Given the description of an element on the screen output the (x, y) to click on. 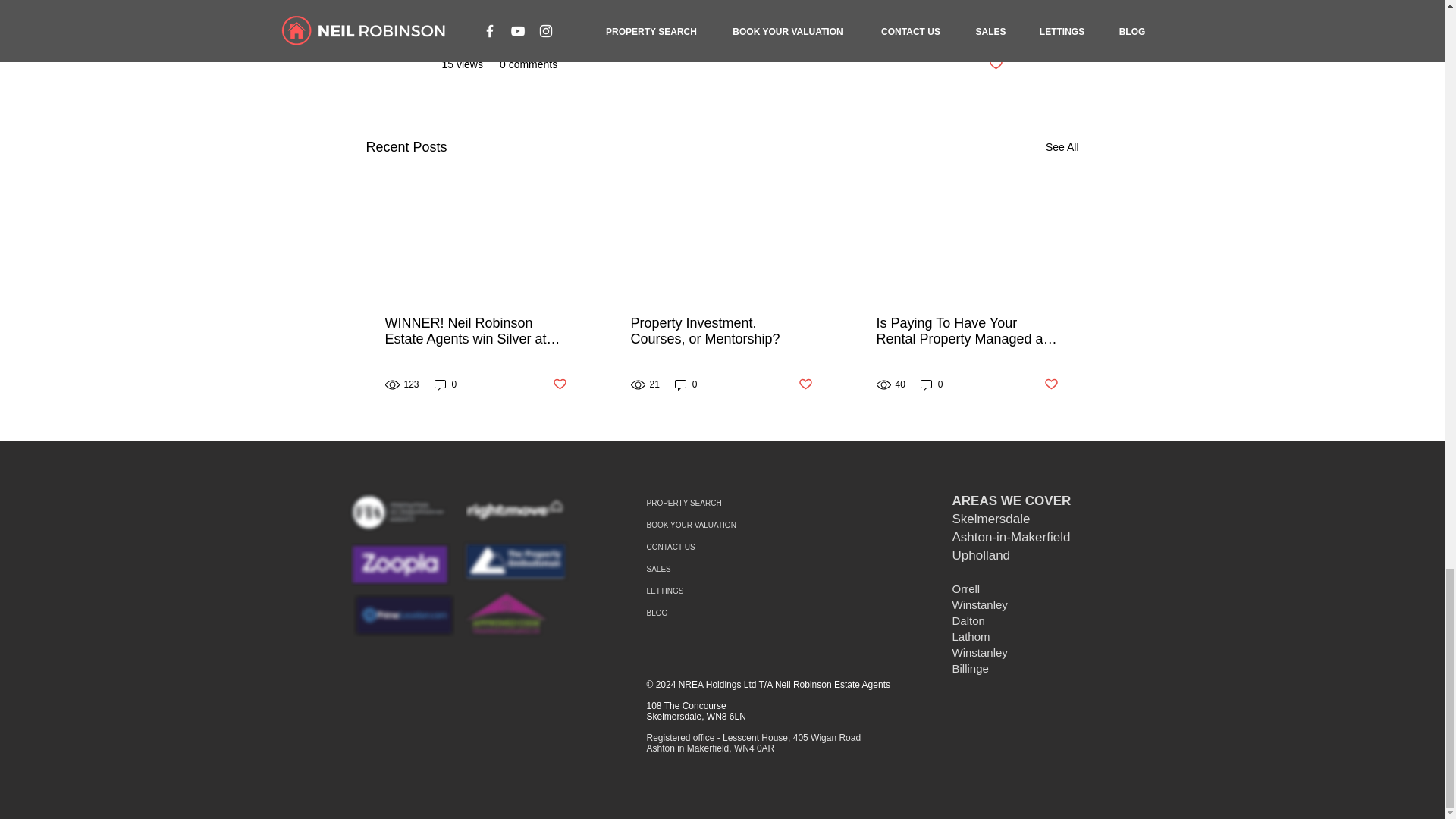
Post not marked as liked (804, 384)
BOOK YOUR VALUATION (737, 525)
0 (931, 384)
See All (1061, 147)
PROPERTY SEARCH (737, 503)
Property Investment. Courses, or Mentorship? (721, 331)
0 (445, 384)
Post not marked as liked (558, 384)
0 (685, 384)
